Given the description of an element on the screen output the (x, y) to click on. 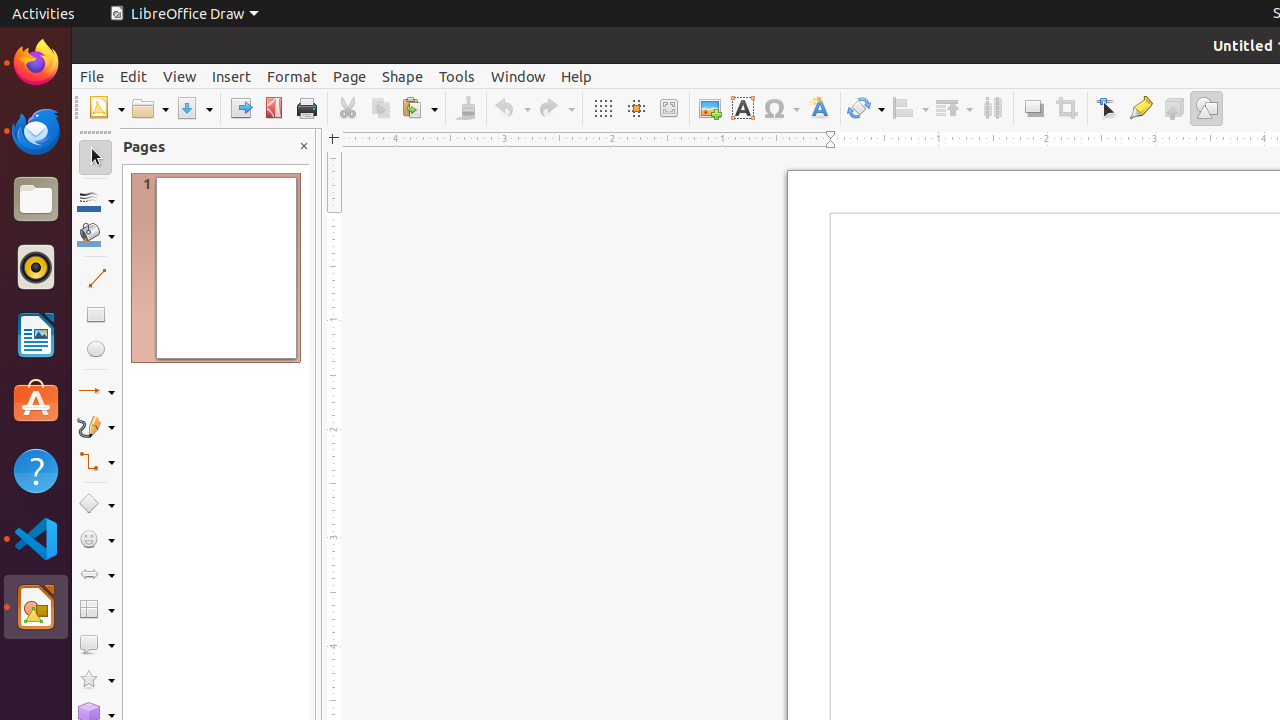
Insert Element type: menu (231, 76)
Visual Studio Code Element type: push-button (36, 538)
Glue Points Element type: push-button (1140, 108)
Files Element type: push-button (36, 199)
